Given the description of an element on the screen output the (x, y) to click on. 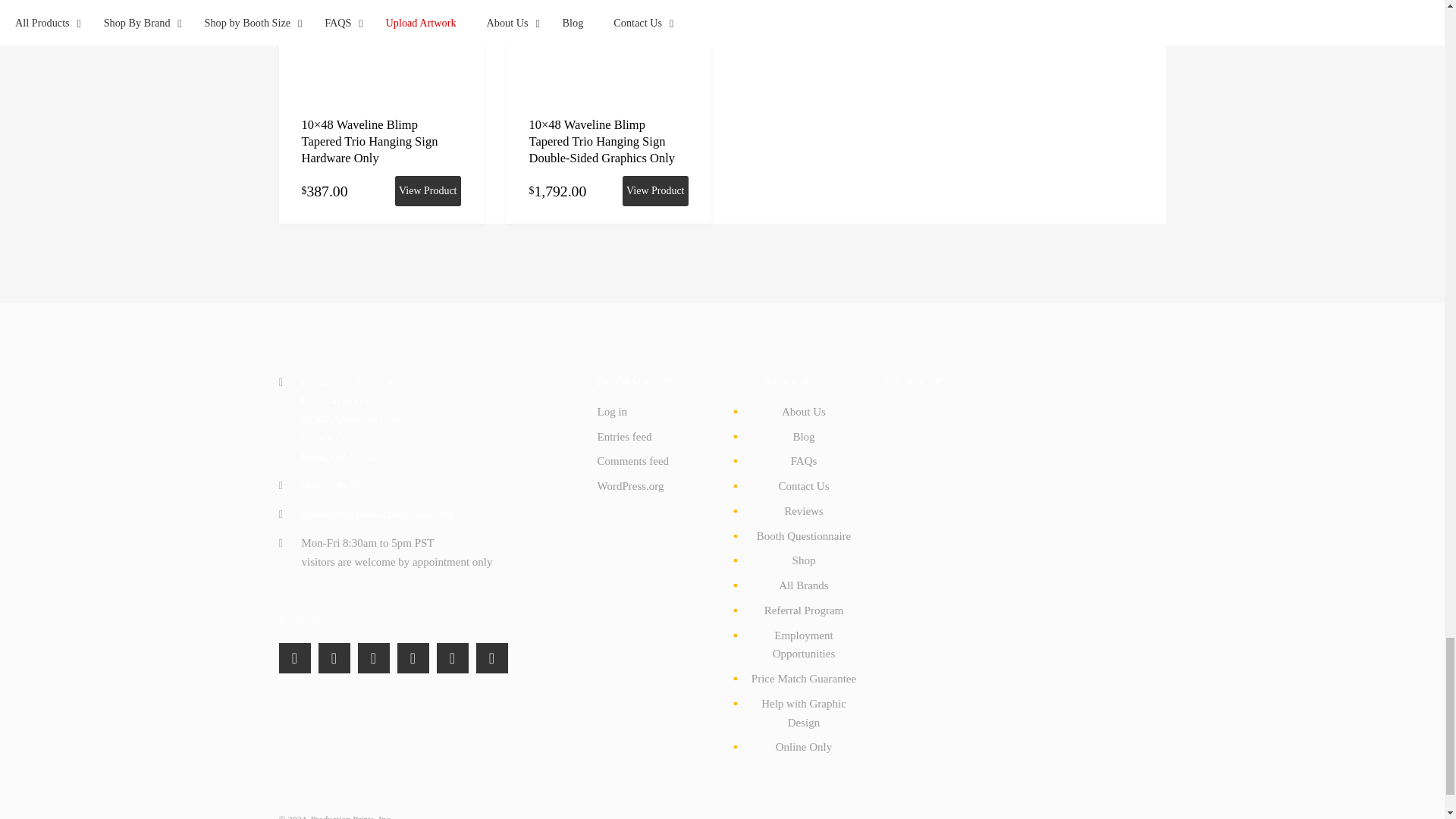
Connect us (492, 658)
Connect us (295, 658)
Connect us (452, 658)
Email us (377, 513)
Connect us (374, 658)
Connect us (413, 658)
Connect us (334, 658)
